Given the description of an element on the screen output the (x, y) to click on. 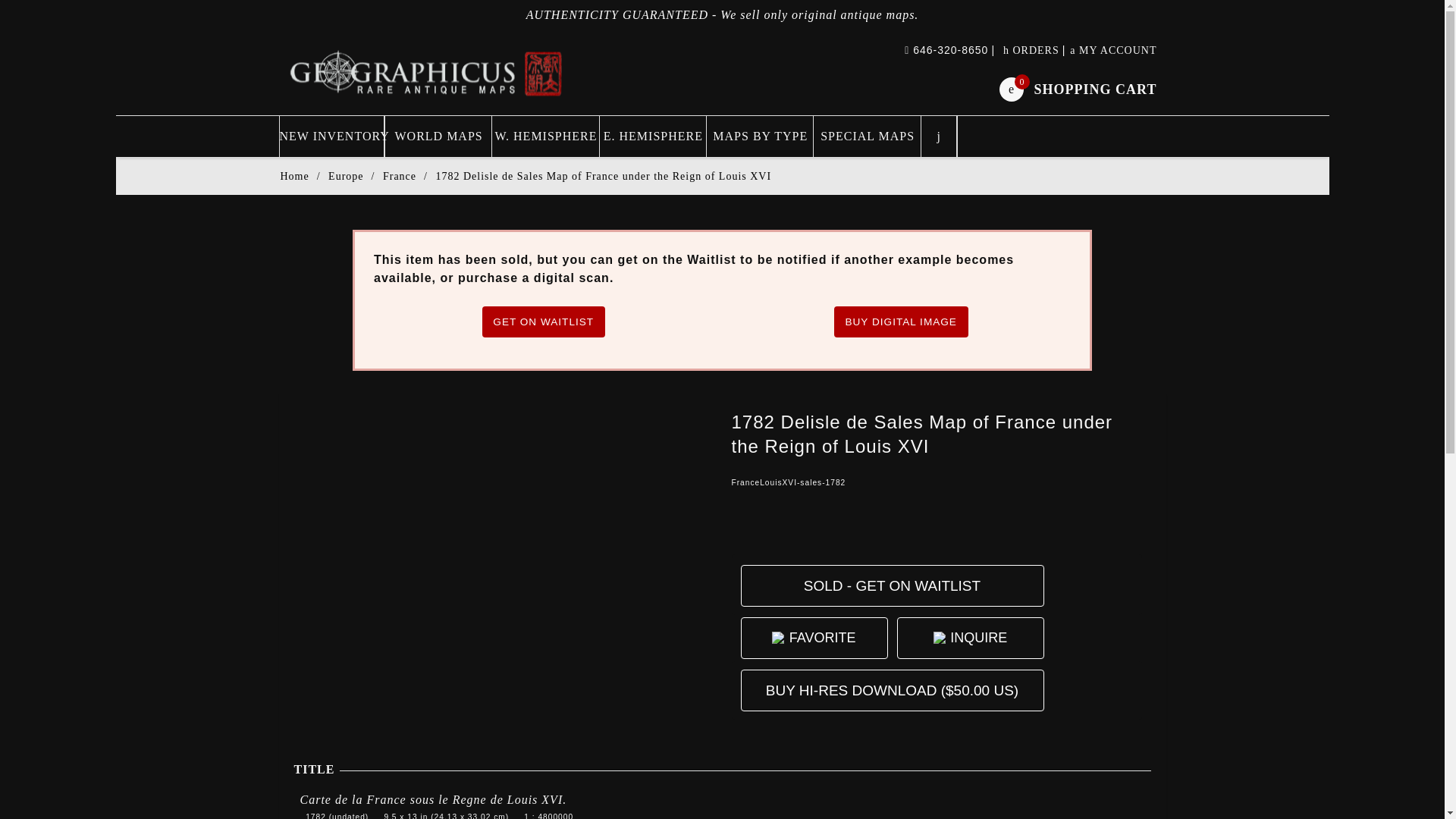
Home (294, 175)
Geographicus Rare Antique Maps (427, 72)
INQUIRE (978, 638)
FAVORITE (822, 638)
Europe (1077, 88)
Geographicus Rare Antique Maps (345, 175)
France (427, 72)
NEW INVENTORY (399, 175)
SOLD - GET ON WAITLIST (331, 136)
